Given the description of an element on the screen output the (x, y) to click on. 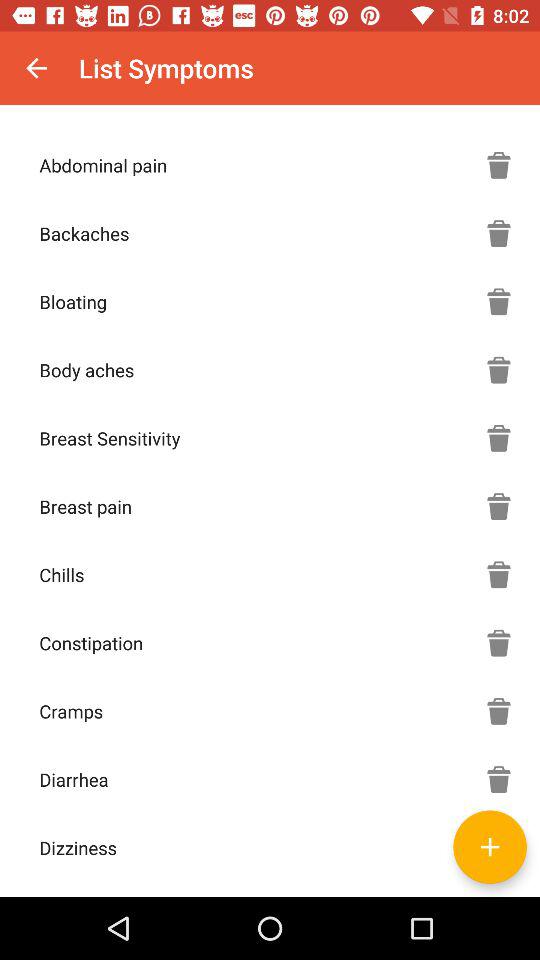
delete symptom (499, 574)
